Given the description of an element on the screen output the (x, y) to click on. 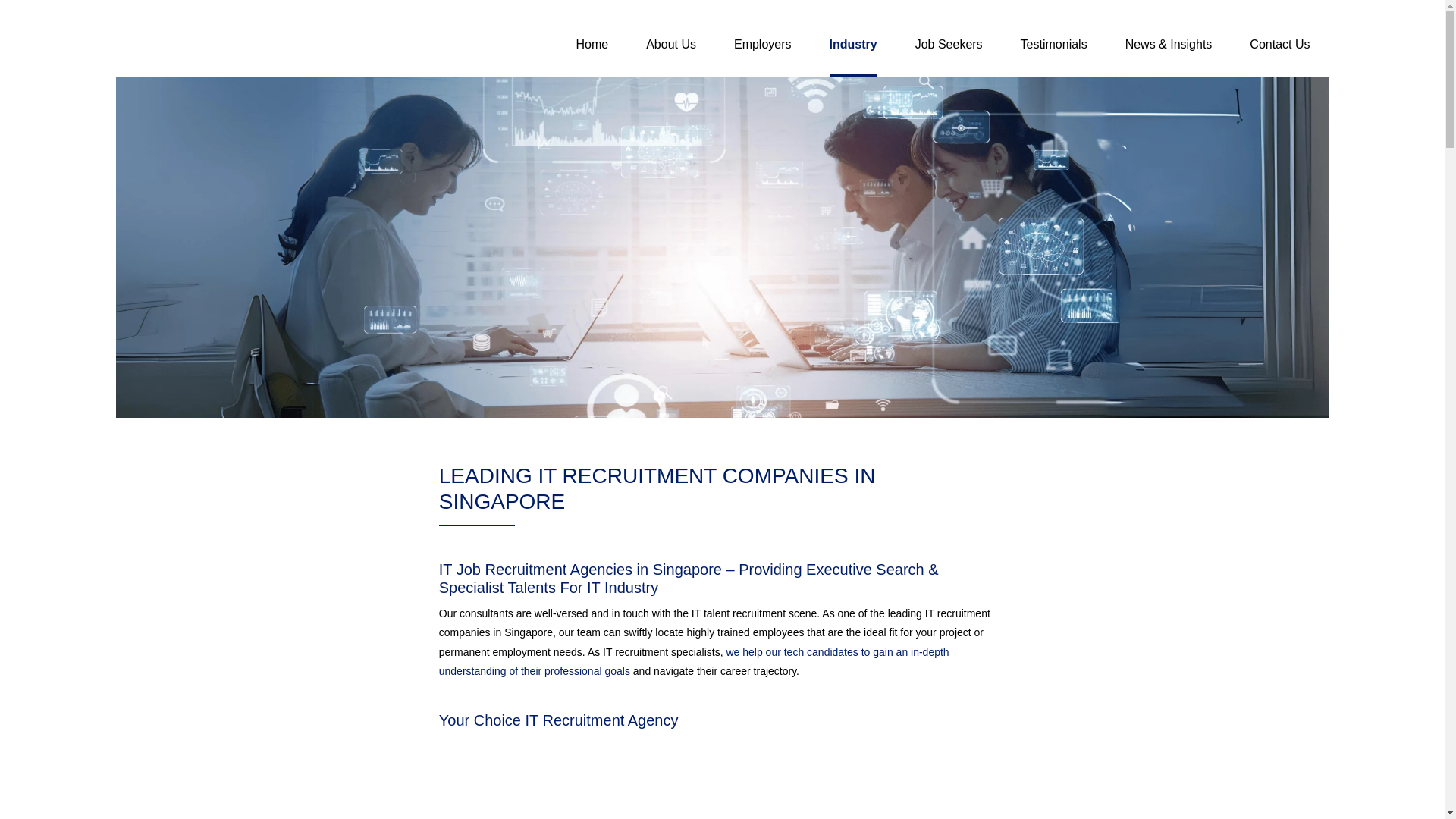
Job Seekers (948, 56)
Employers (762, 56)
About Us (670, 56)
Testimonials (1053, 56)
Industry (853, 56)
Contact Us (1278, 56)
